Given the description of an element on the screen output the (x, y) to click on. 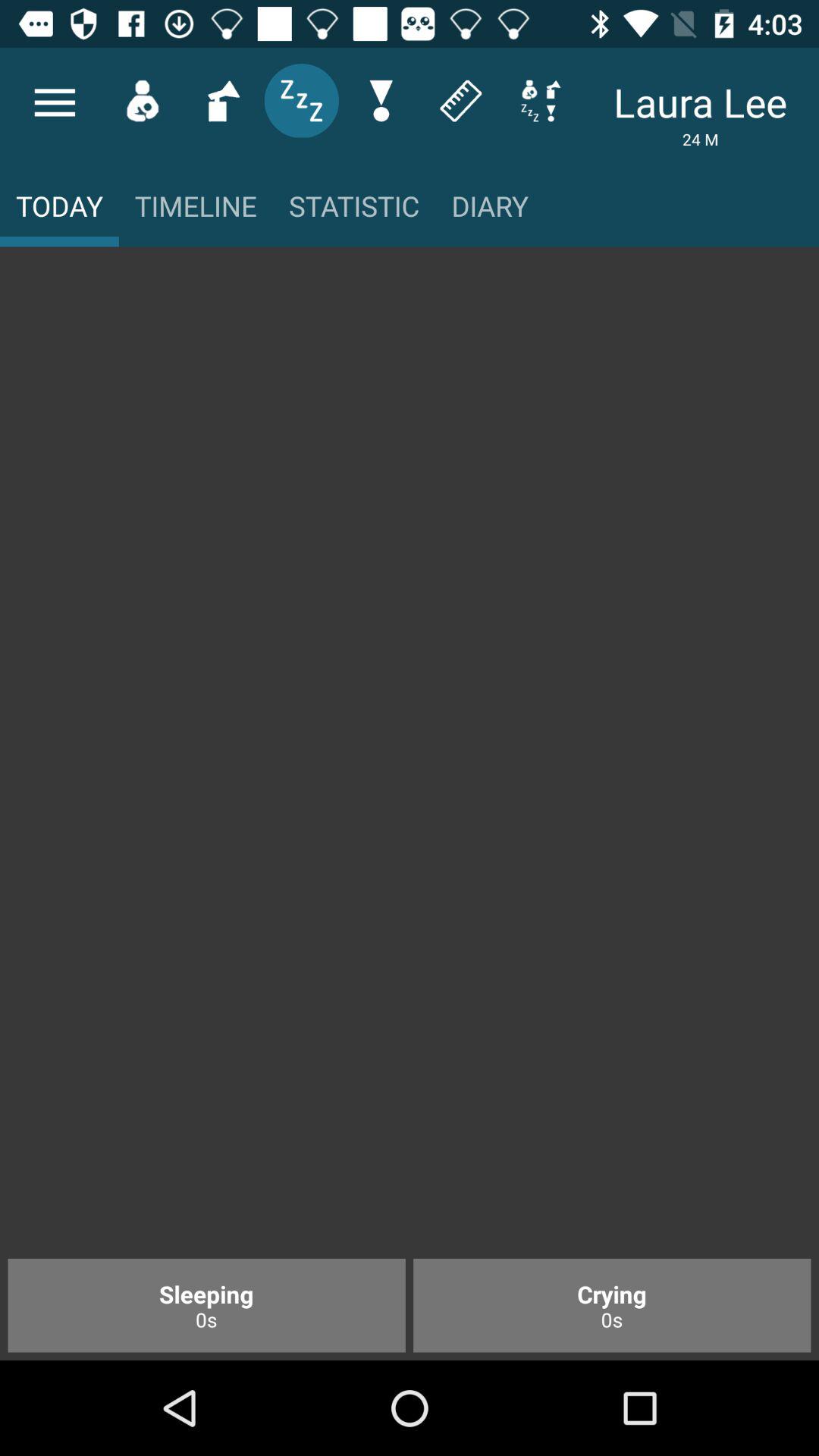
jump until the crying
0s icon (612, 1305)
